Given the description of an element on the screen output the (x, y) to click on. 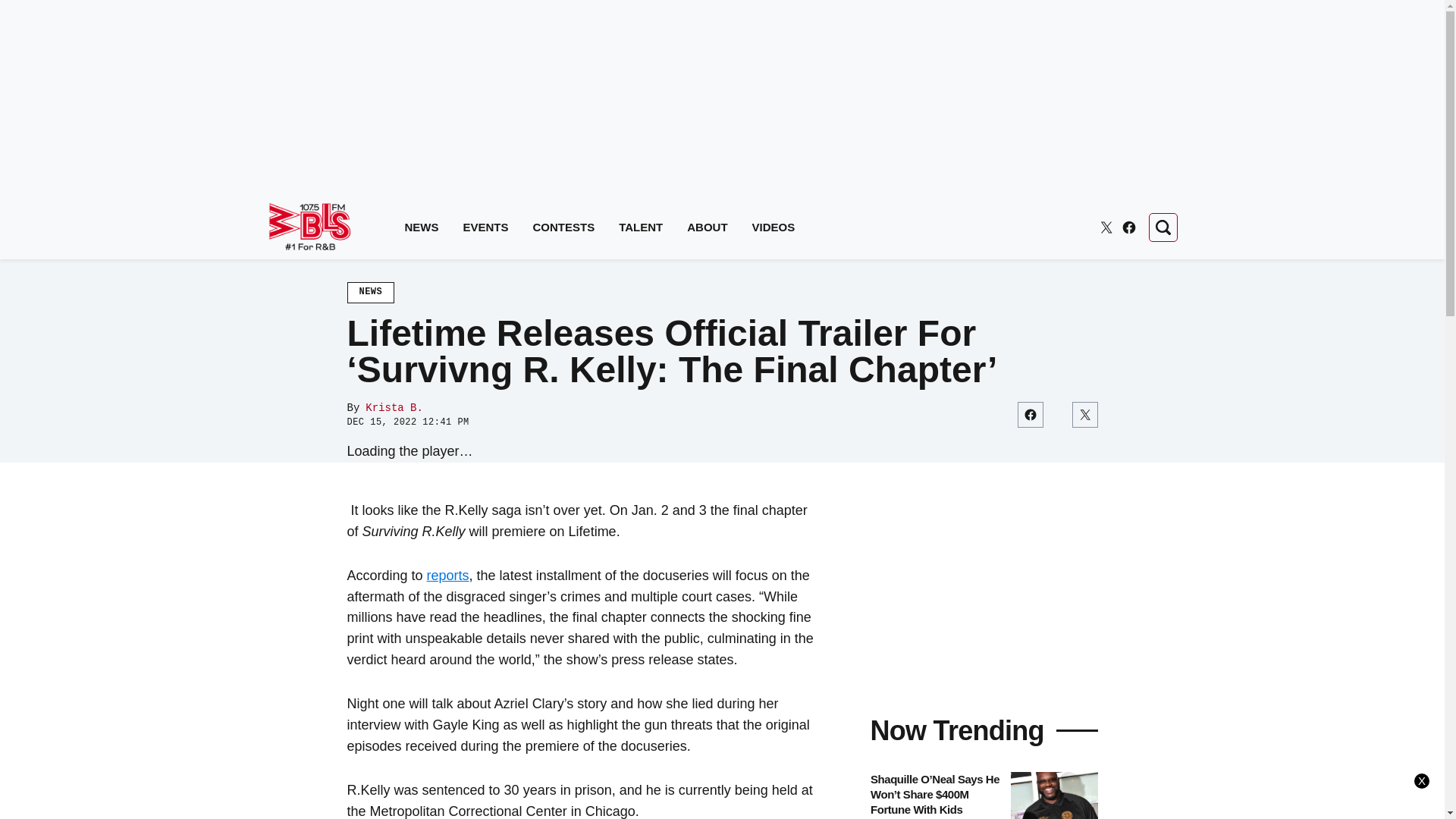
EVENTS (485, 227)
Search (1162, 226)
NEWS (370, 292)
CONTESTS (563, 227)
VIDEOS (773, 227)
NEWS (421, 227)
ABOUT (706, 227)
Posts by Krista B. (394, 408)
TALENT (640, 227)
reports (447, 575)
